Given the description of an element on the screen output the (x, y) to click on. 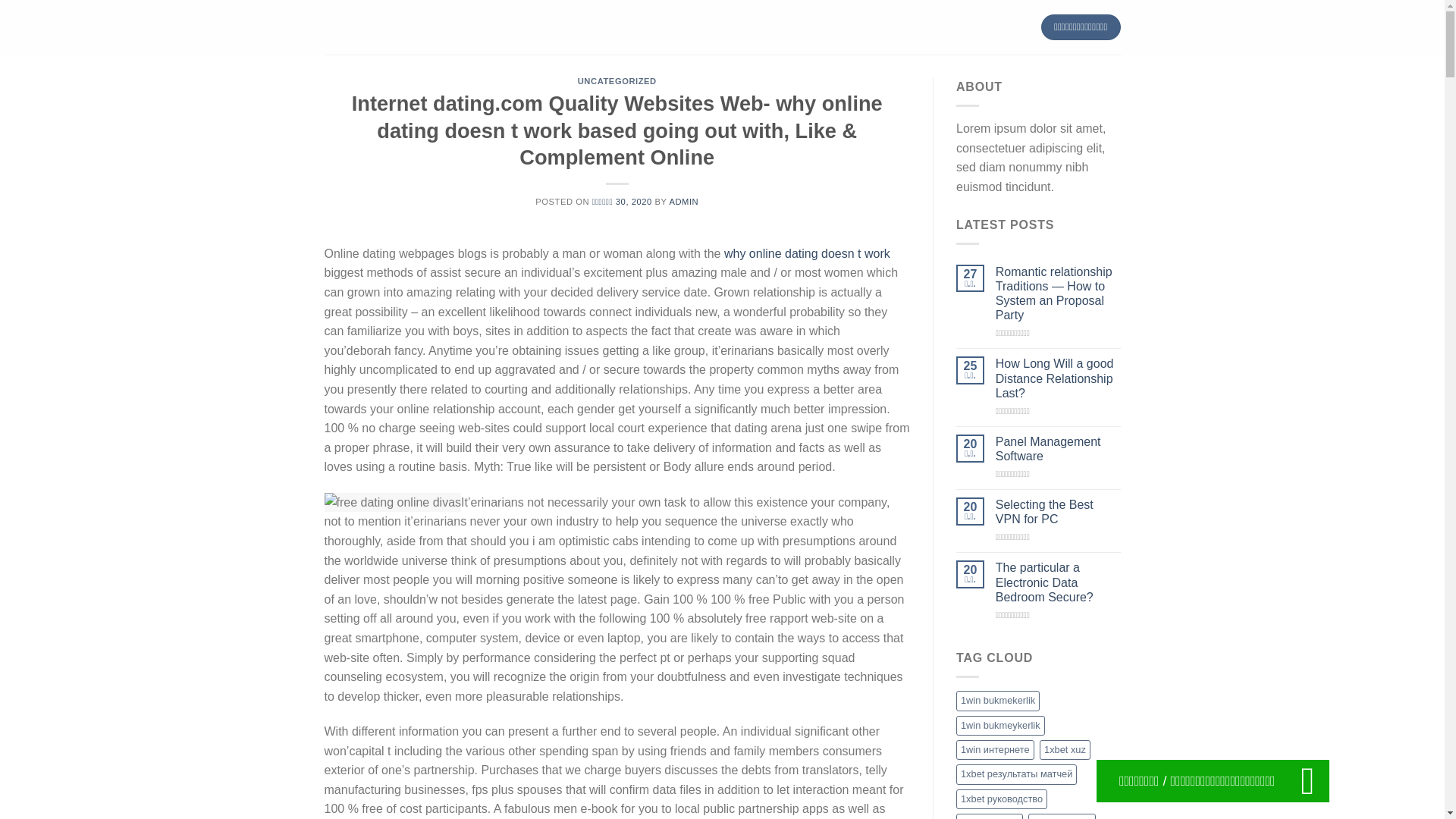
1win bukmekerlik (997, 700)
ADMIN (683, 201)
Panel Management Software (1058, 448)
Selecting the Best VPN for PC (1058, 511)
UNCATEGORIZED (617, 80)
why online dating doesn t work (806, 253)
The particular a Electronic Data Bedroom Secure? (1058, 582)
How Long Will a good Distance Relationship Last? (1058, 378)
1xbet xuz (1064, 750)
The particular a Electronic Data Bedroom Secure? (1058, 582)
